Given the description of an element on the screen output the (x, y) to click on. 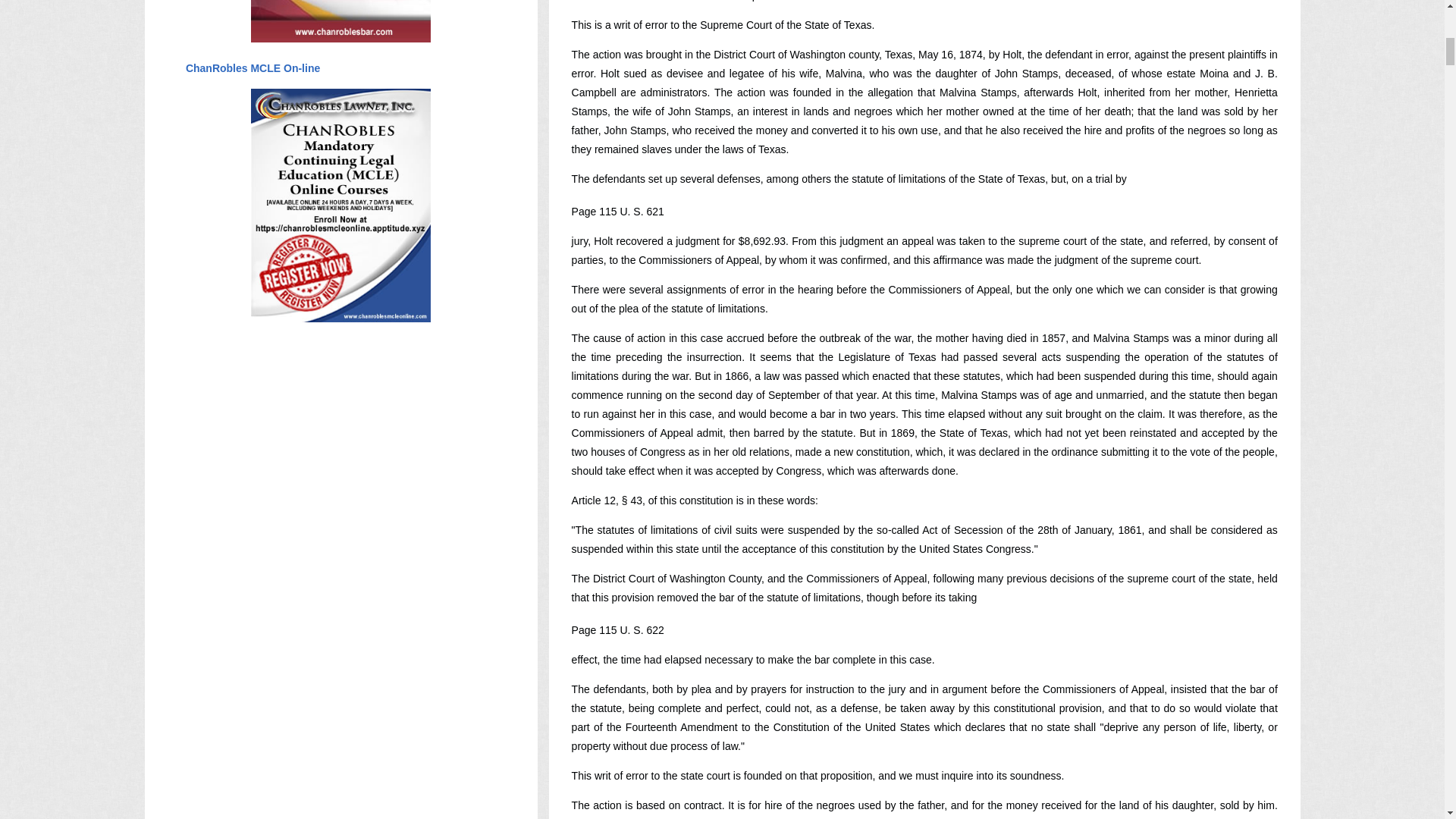
Page 115 U. S. 621 (617, 211)
Page 115 U. S. 622 (617, 630)
Advertisement (340, 692)
